Given the description of an element on the screen output the (x, y) to click on. 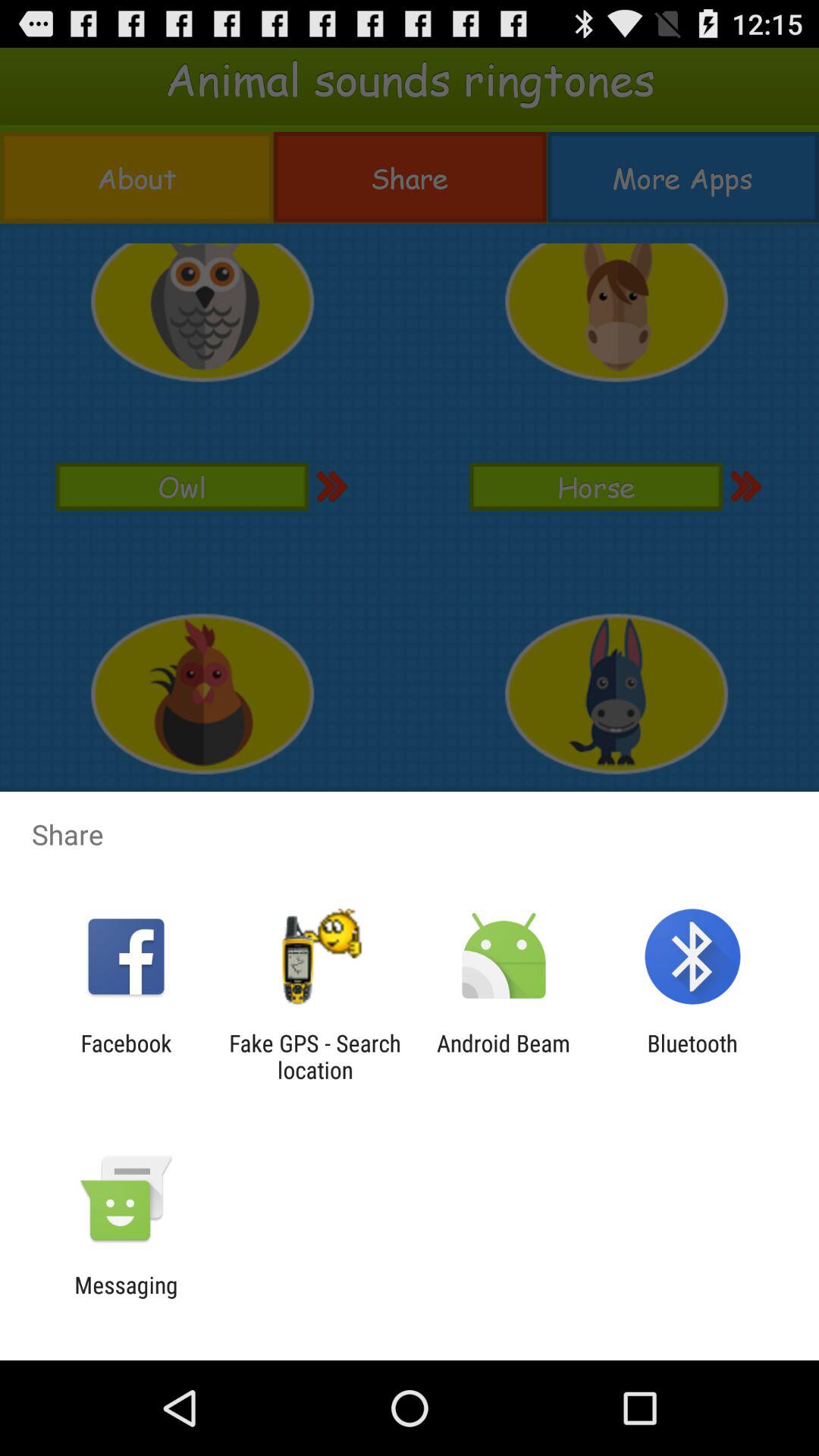
flip until facebook item (125, 1056)
